Given the description of an element on the screen output the (x, y) to click on. 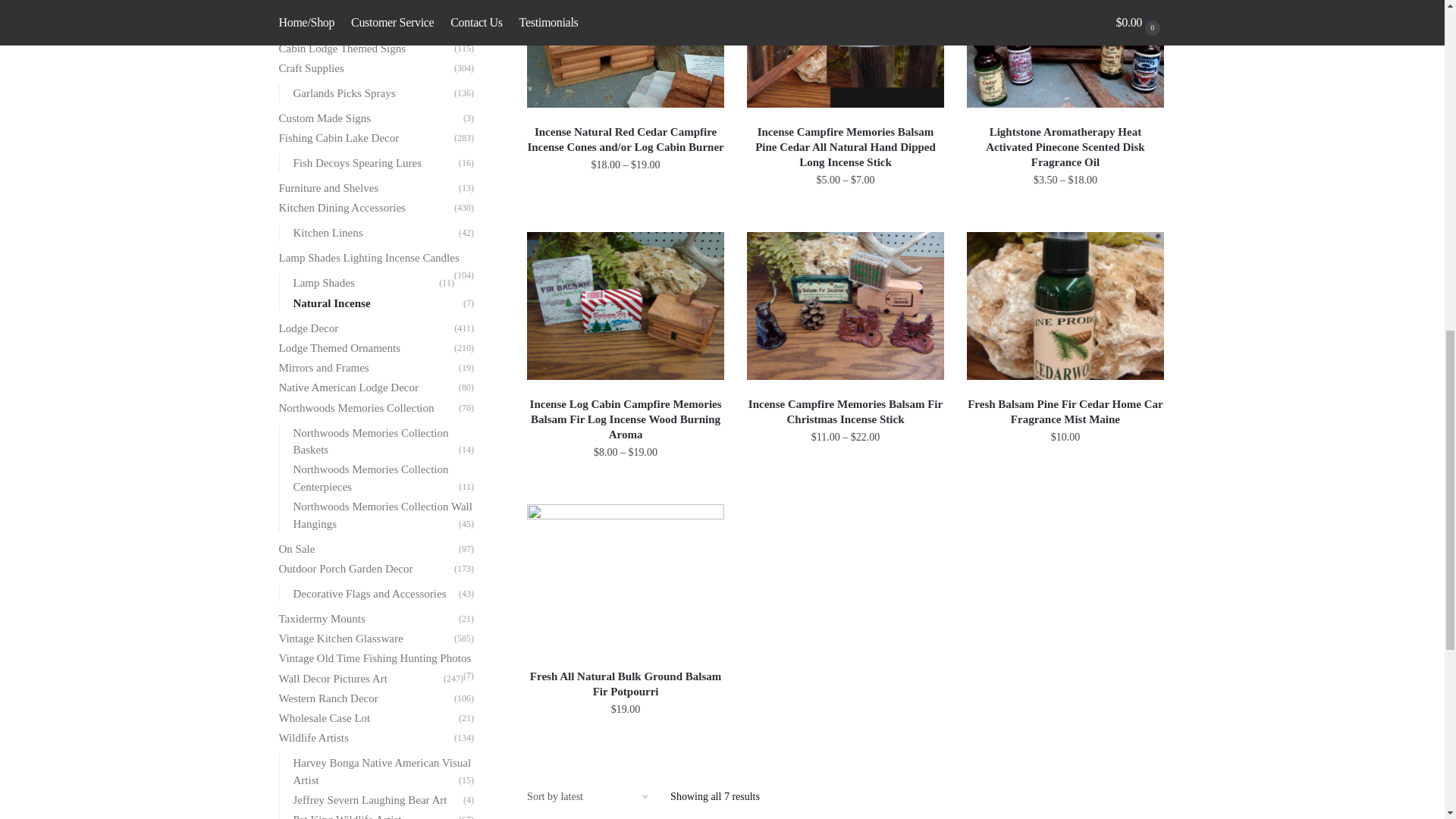
Fresh All Natural Bulk Ground Balsam Fir Potpourri (625, 684)
Fresh Balsam Pine Fir Cedar Home Car Fragrance Mist Maine (1064, 411)
Incense Campfire Memories Balsam Fir Christmas Incense Stick (844, 411)
